Given the description of an element on the screen output the (x, y) to click on. 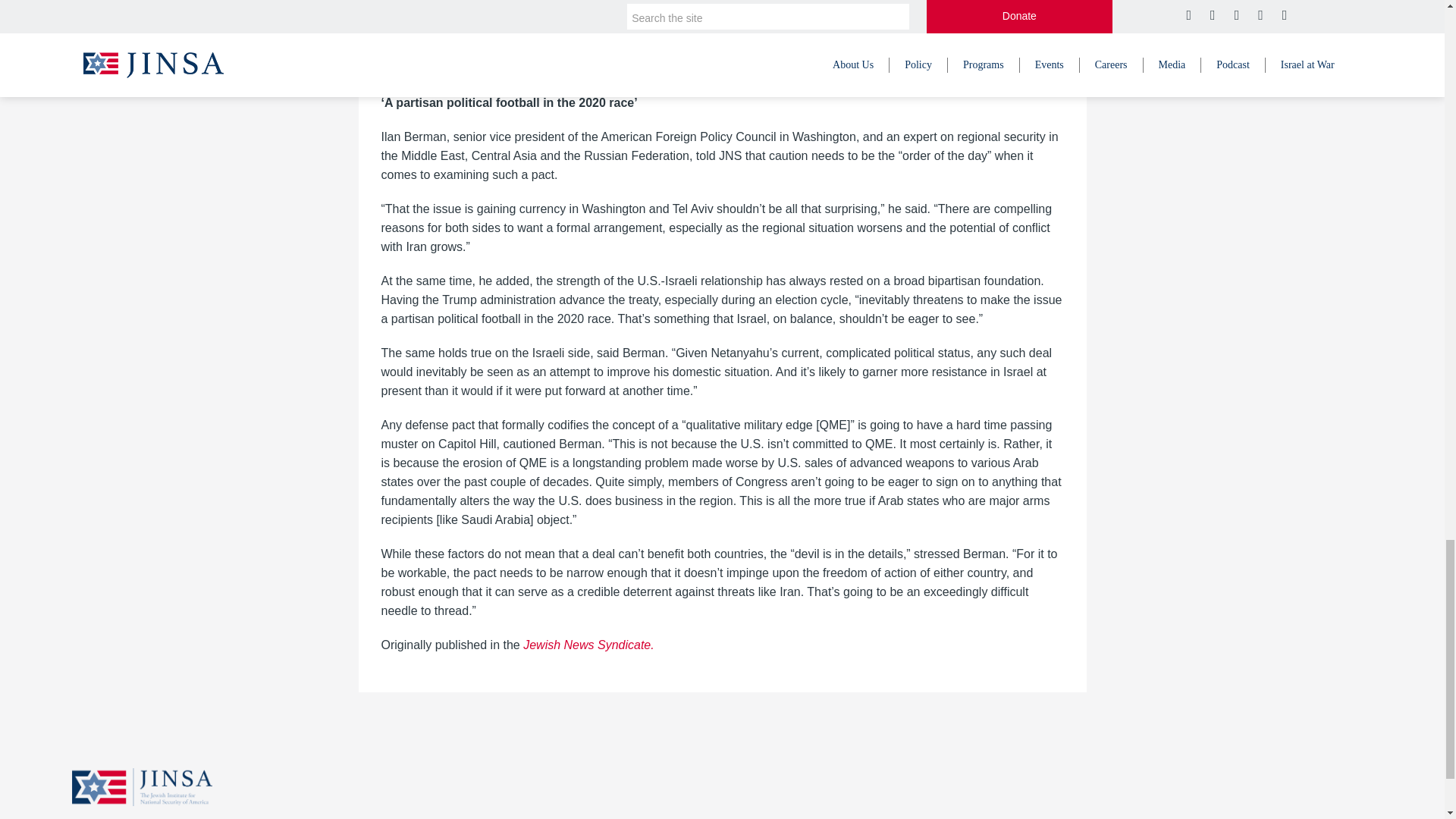
Jewish News Syndicate. (587, 644)
JINSA (141, 785)
